Given the description of an element on the screen output the (x, y) to click on. 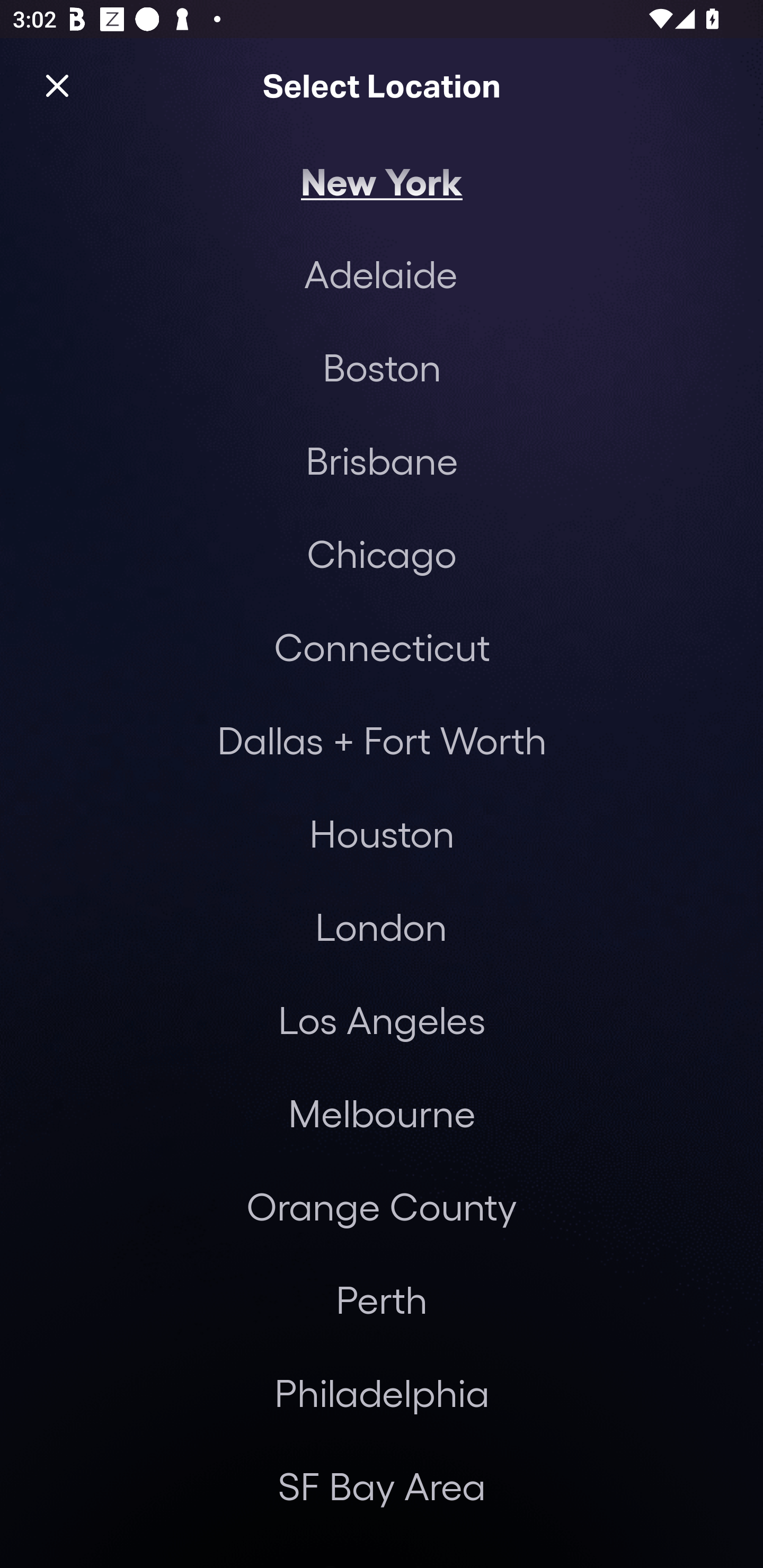
Close (57, 85)
New York (381, 180)
Adelaide (380, 273)
Boston (381, 366)
Brisbane (381, 459)
Chicago (381, 553)
Connecticut (381, 646)
Dallas + Fort Worth (381, 740)
Houston (381, 833)
London (380, 926)
Los Angeles (381, 1019)
Melbourne (381, 1113)
Orange County (381, 1206)
Perth (381, 1298)
Philadelphia (381, 1392)
SF Bay Area (381, 1485)
